Given the description of an element on the screen output the (x, y) to click on. 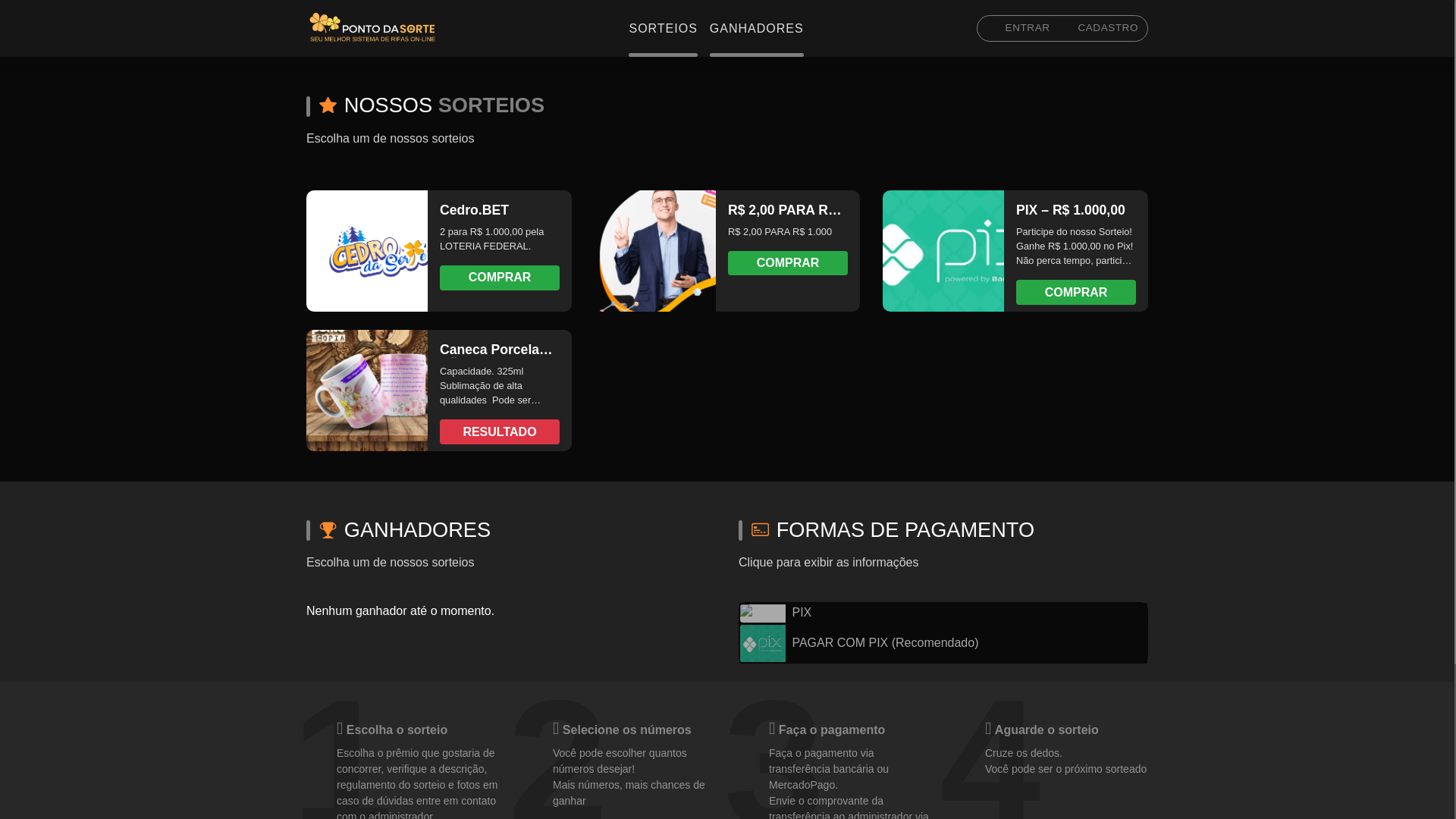
CADASTRO (1098, 27)
SORTEIOS (662, 27)
Cedro.BET (379, 251)
PIX (943, 612)
GANHADORES (756, 27)
ENTRAR (1019, 27)
